Given the description of an element on the screen output the (x, y) to click on. 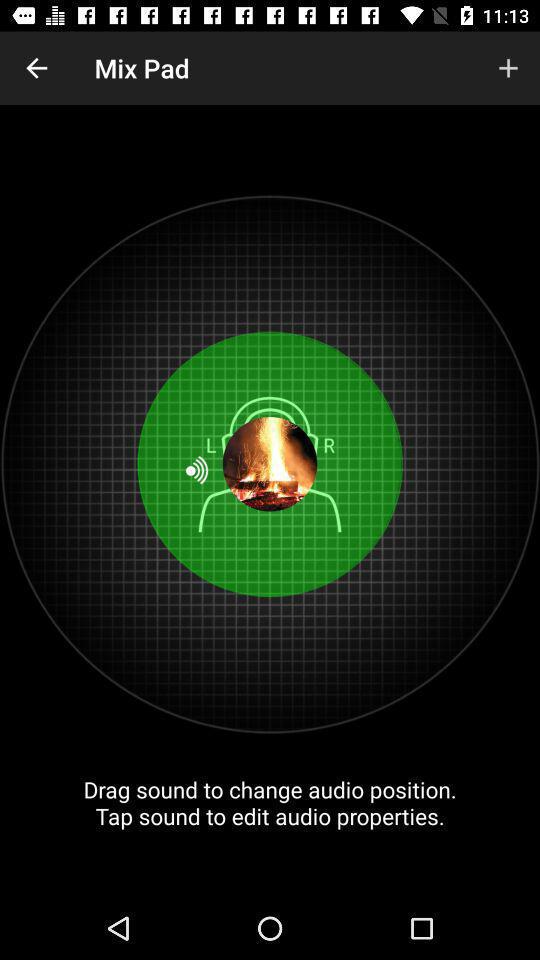
turn on icon to the right of mix pad icon (508, 67)
